Given the description of an element on the screen output the (x, y) to click on. 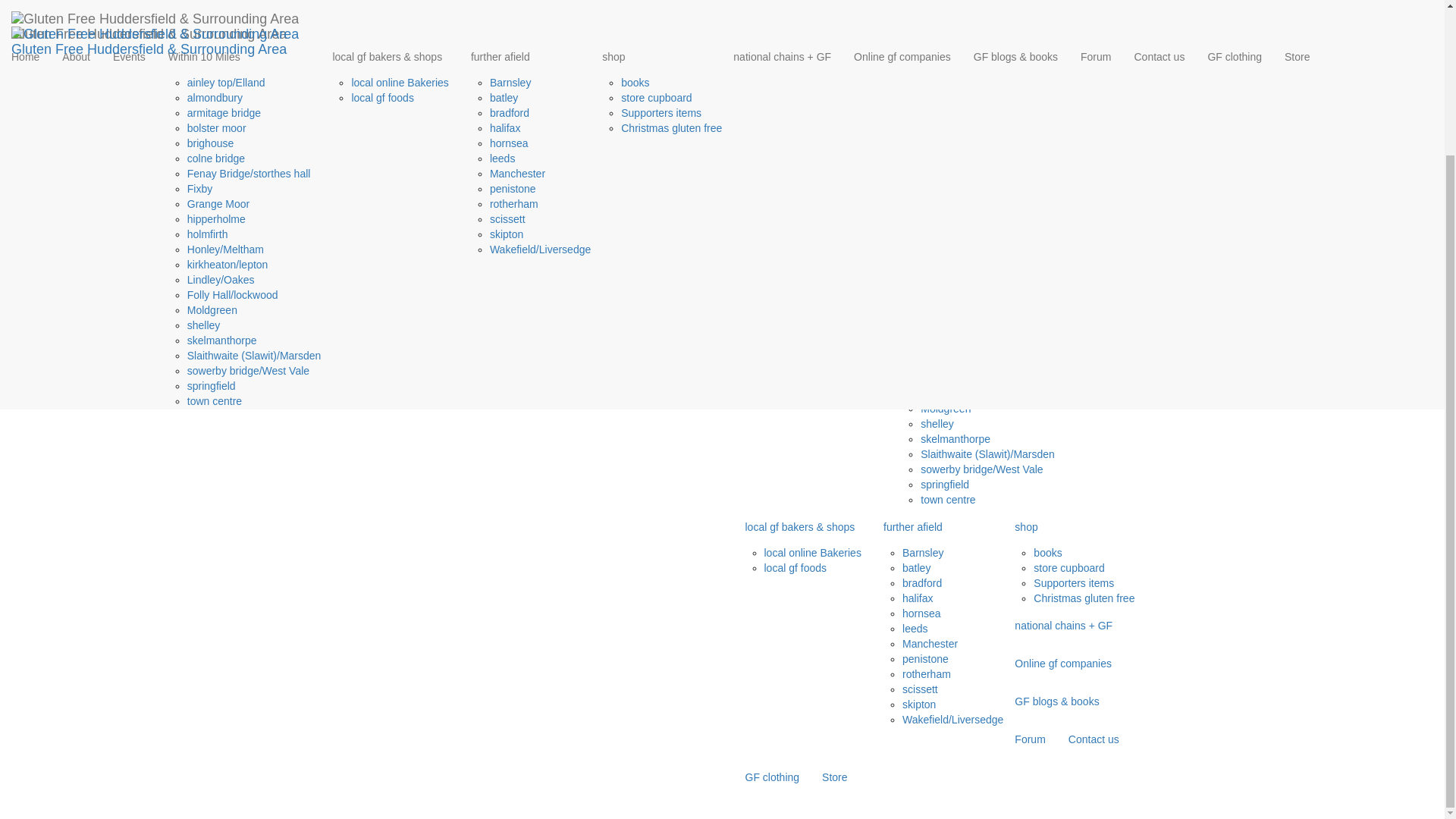
Grange Moor (217, 23)
penistone (512, 8)
hipperholme (216, 38)
rotherham (513, 23)
springfield (211, 205)
Fixby (199, 8)
Moldgreen (212, 129)
holmfirth (207, 53)
town centre (214, 220)
shelley (204, 144)
skelmanthorpe (222, 159)
